Given the description of an element on the screen output the (x, y) to click on. 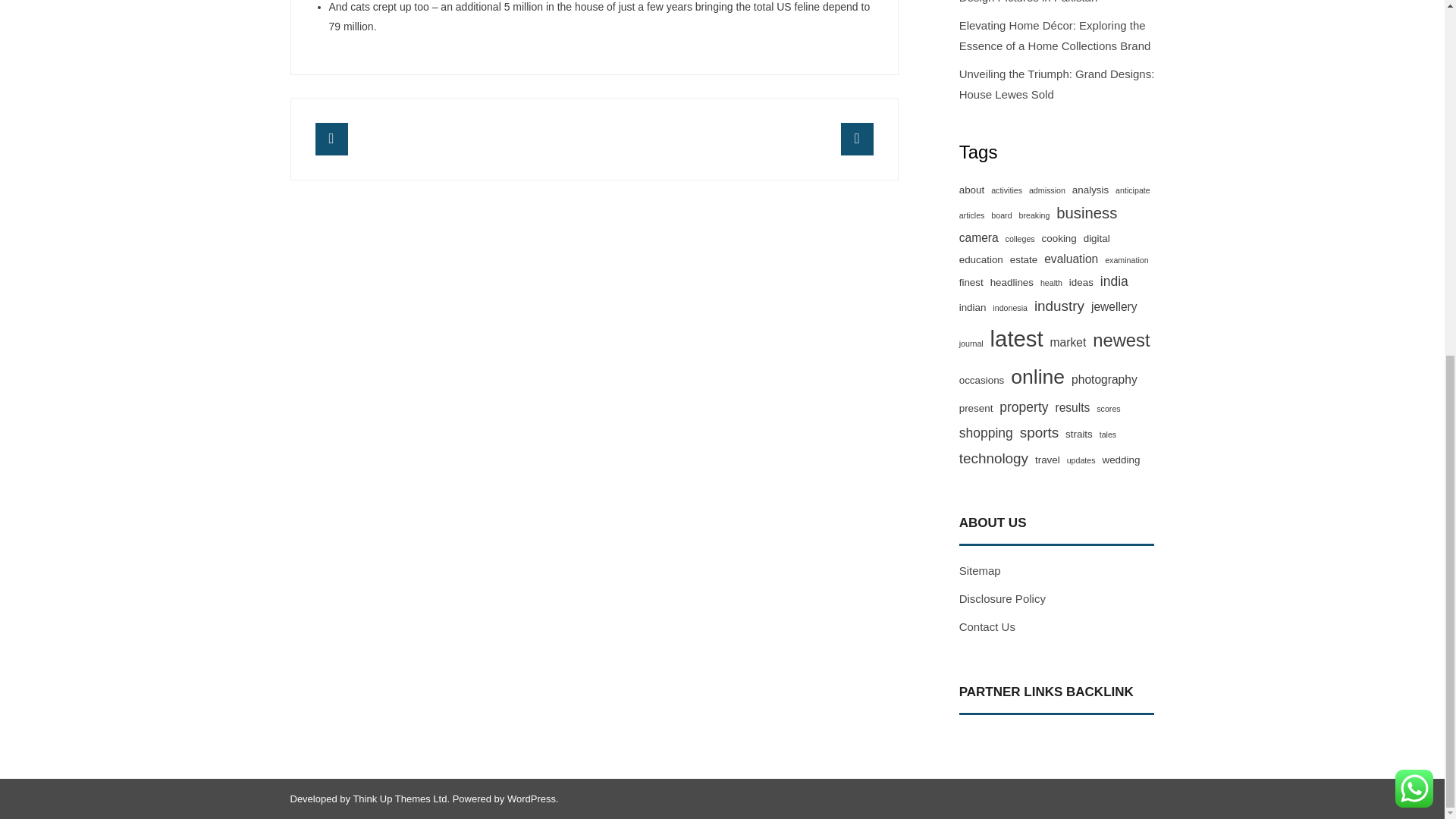
analysis (1089, 189)
activities (1006, 190)
about (972, 189)
Unveiling the Triumph: Grand Designs: House Lewes Sold (1056, 83)
admission (1047, 190)
